Given the description of an element on the screen output the (x, y) to click on. 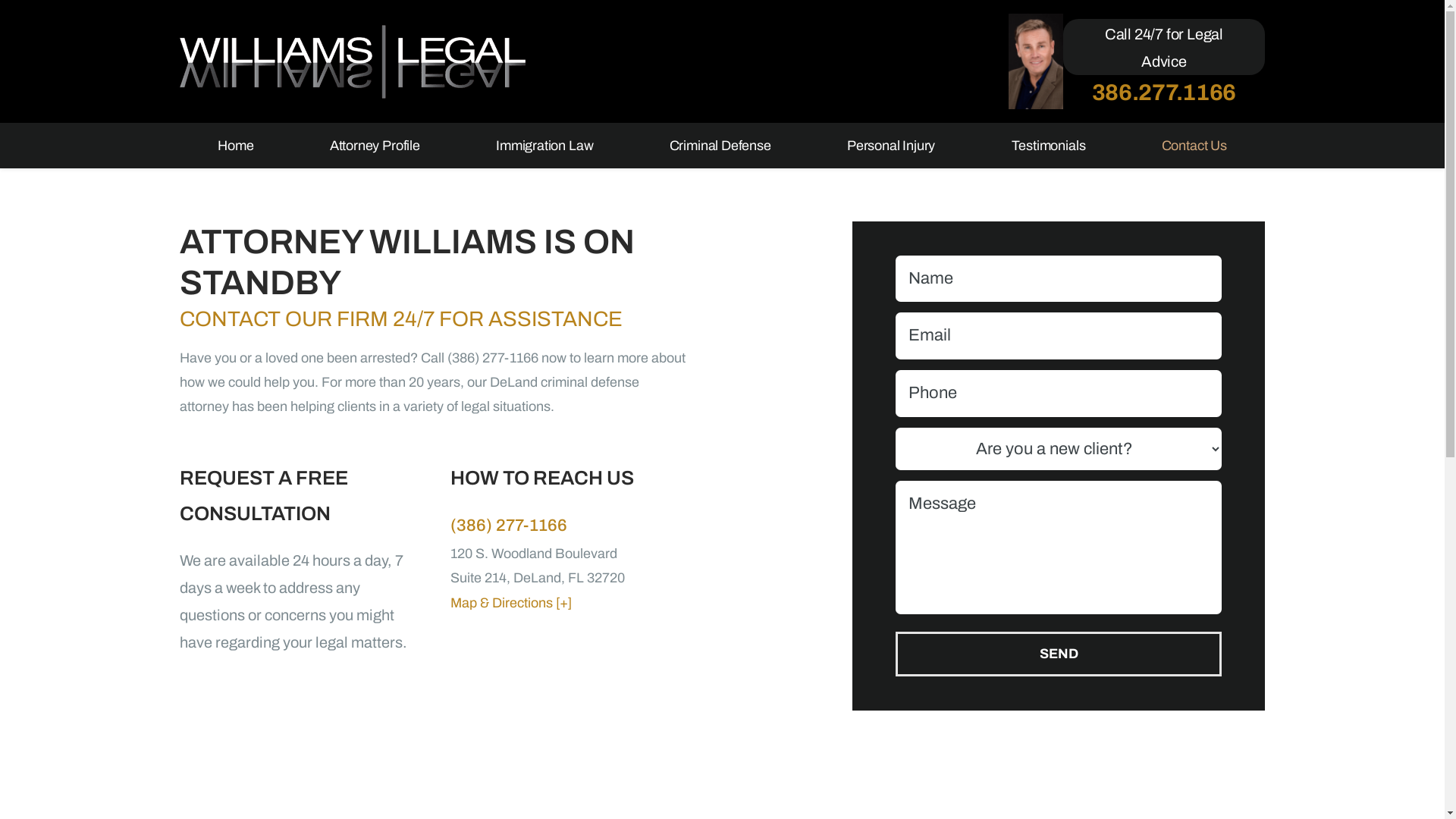
Testimonials Element type: text (1047, 145)
Personal Injury Element type: text (891, 145)
Map & Directions [+] Element type: text (570, 602)
SEND Element type: text (1057, 653)
Attorney Profile Element type: text (374, 145)
Home Element type: text (235, 145)
386.277.1166 Element type: text (1163, 92)
Williams Legal, P.A. Element type: hover (352, 61)
Immigration Law Element type: text (544, 145)
Contact Us Element type: text (1193, 145)
(386) 277-1166 Element type: text (570, 526)
Criminal Defense Element type: text (719, 145)
